Given the description of an element on the screen output the (x, y) to click on. 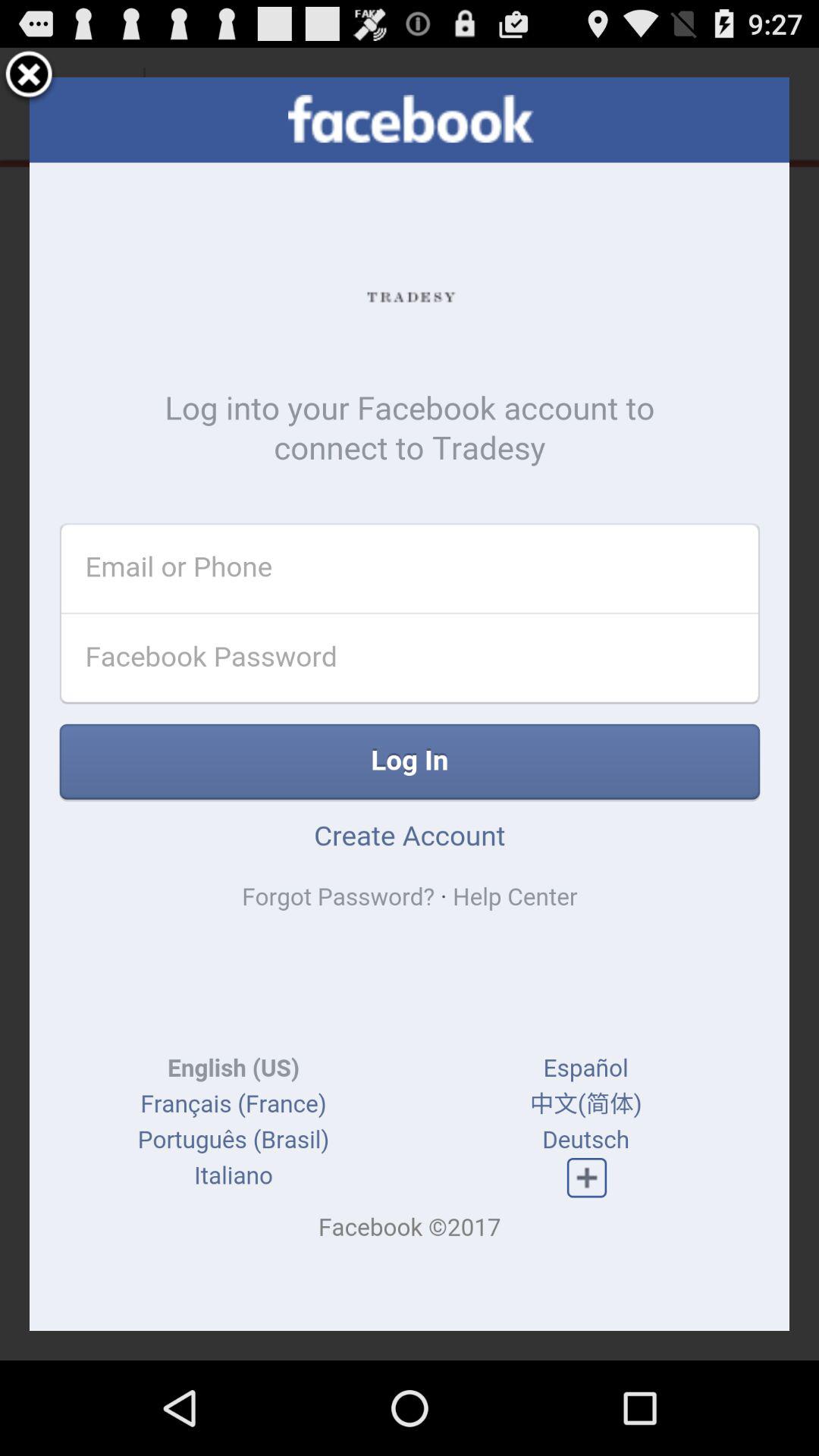
tap to close (29, 76)
